Given the description of an element on the screen output the (x, y) to click on. 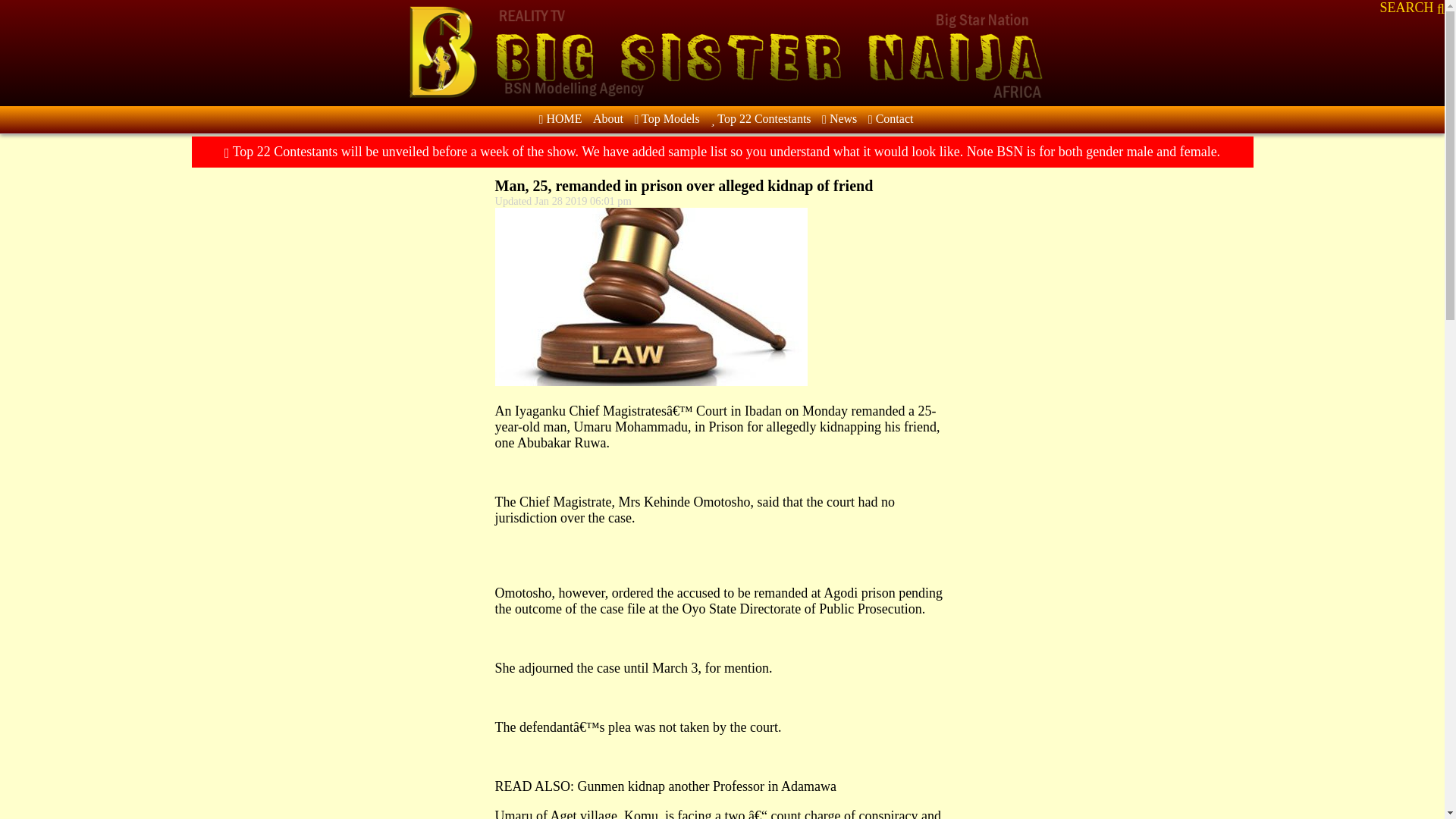
Top 22 Contestants (760, 118)
About (607, 118)
News (839, 118)
HOME (560, 118)
Top Models (665, 118)
Contact (890, 118)
